Given the description of an element on the screen output the (x, y) to click on. 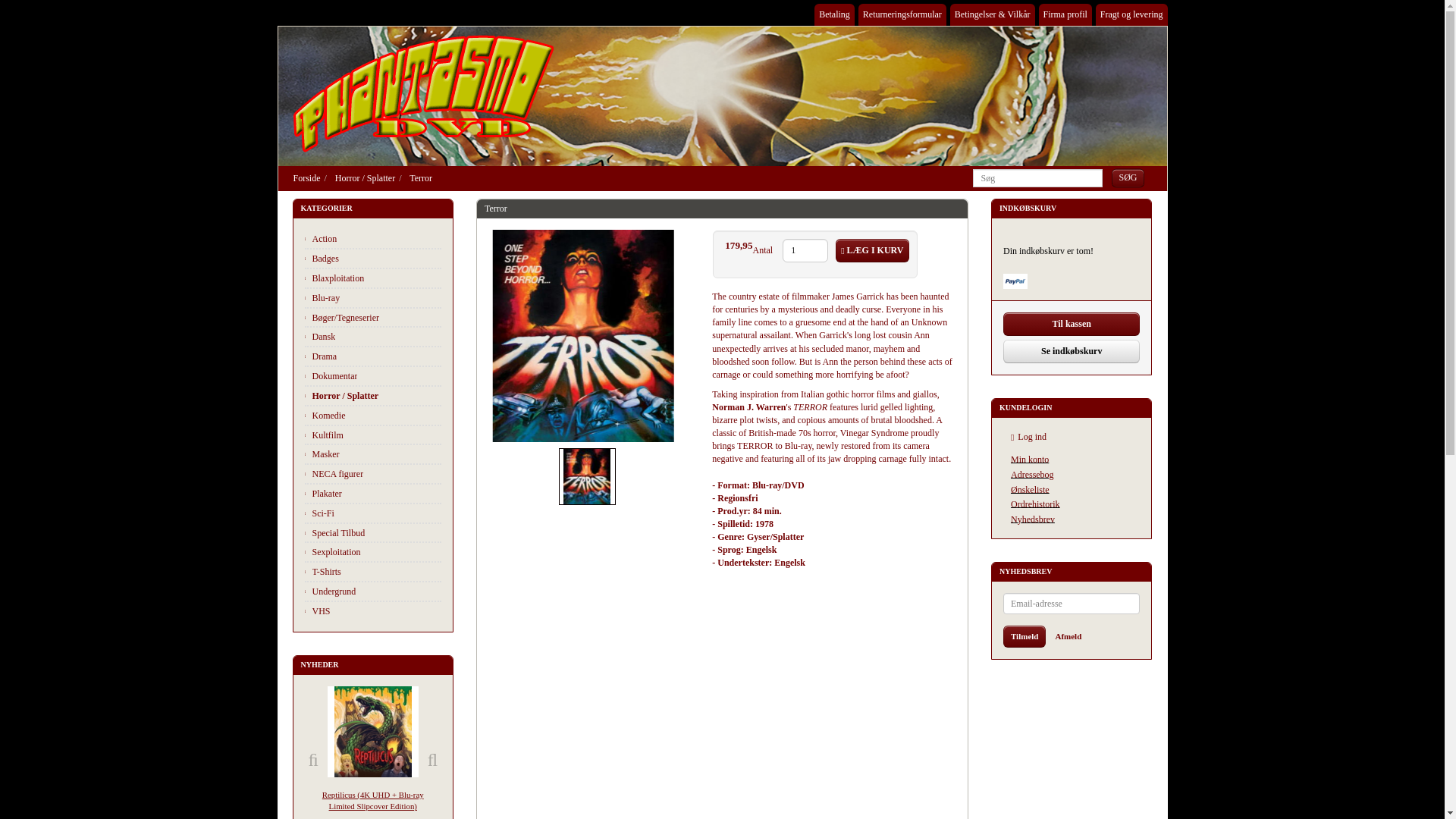
Masker (372, 454)
Betaling (833, 14)
NECA figurer (372, 474)
Badges (372, 258)
Action (372, 239)
Komedie (372, 415)
T-Shirts (372, 571)
Dansk (372, 336)
Dokumentar (372, 375)
Special Tilbud (372, 533)
Plakater (372, 493)
Blu-ray (372, 298)
Sci-Fi (372, 513)
Sexploitation (372, 551)
Blaxploitation (372, 278)
